Given the description of an element on the screen output the (x, y) to click on. 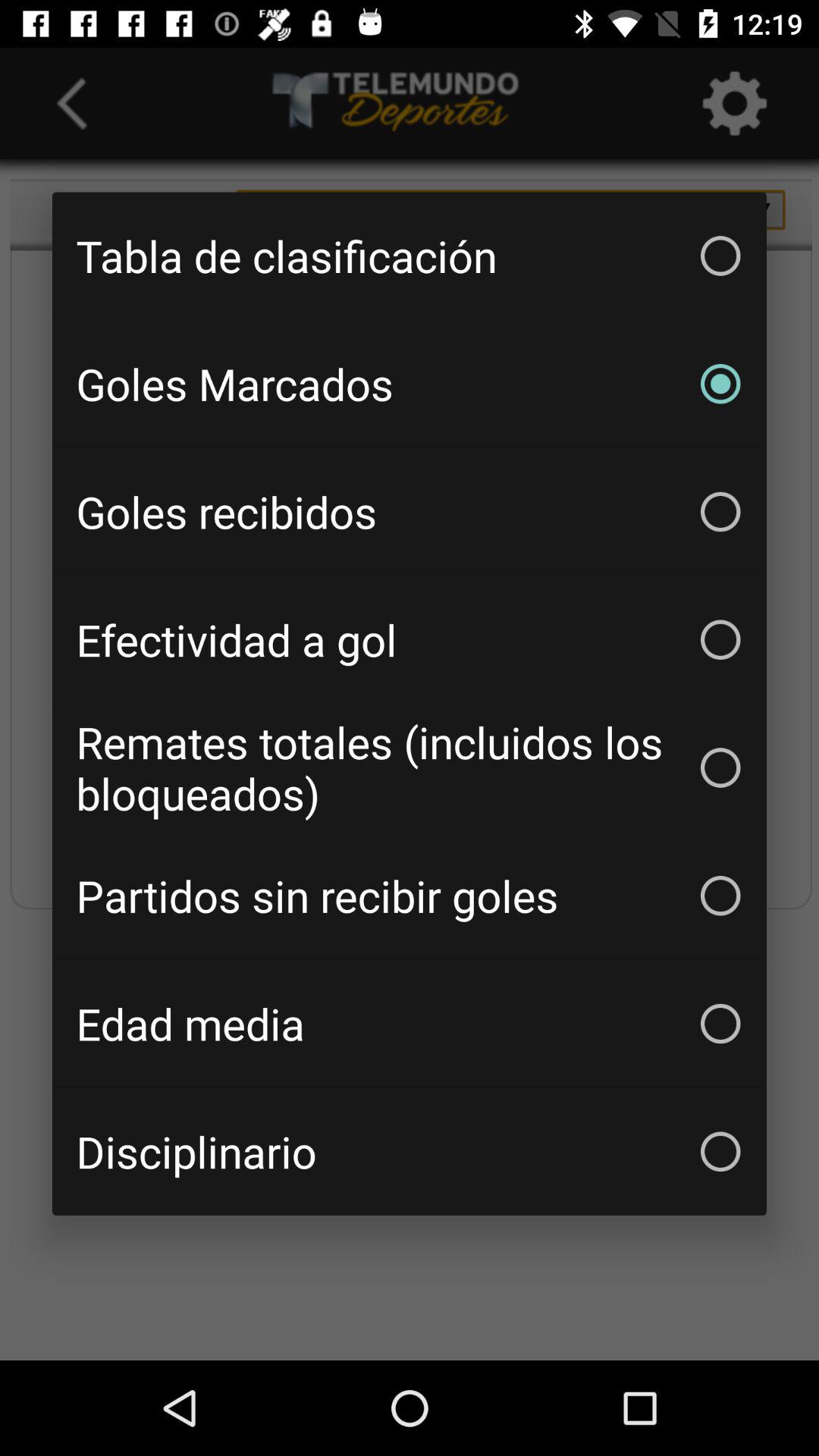
select goles recibidos (409, 511)
